Given the description of an element on the screen output the (x, y) to click on. 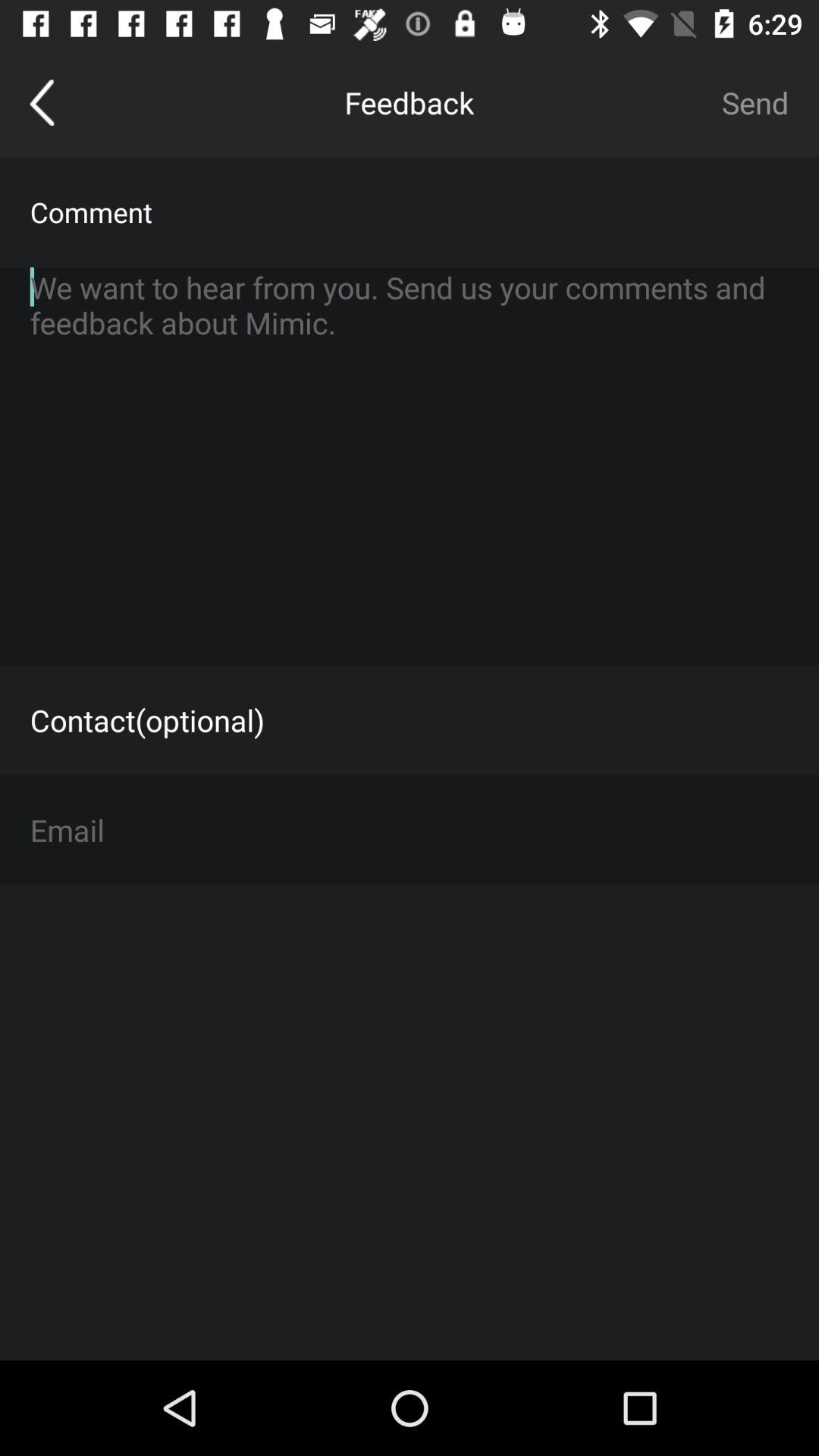
flip to the send (755, 102)
